Given the description of an element on the screen output the (x, y) to click on. 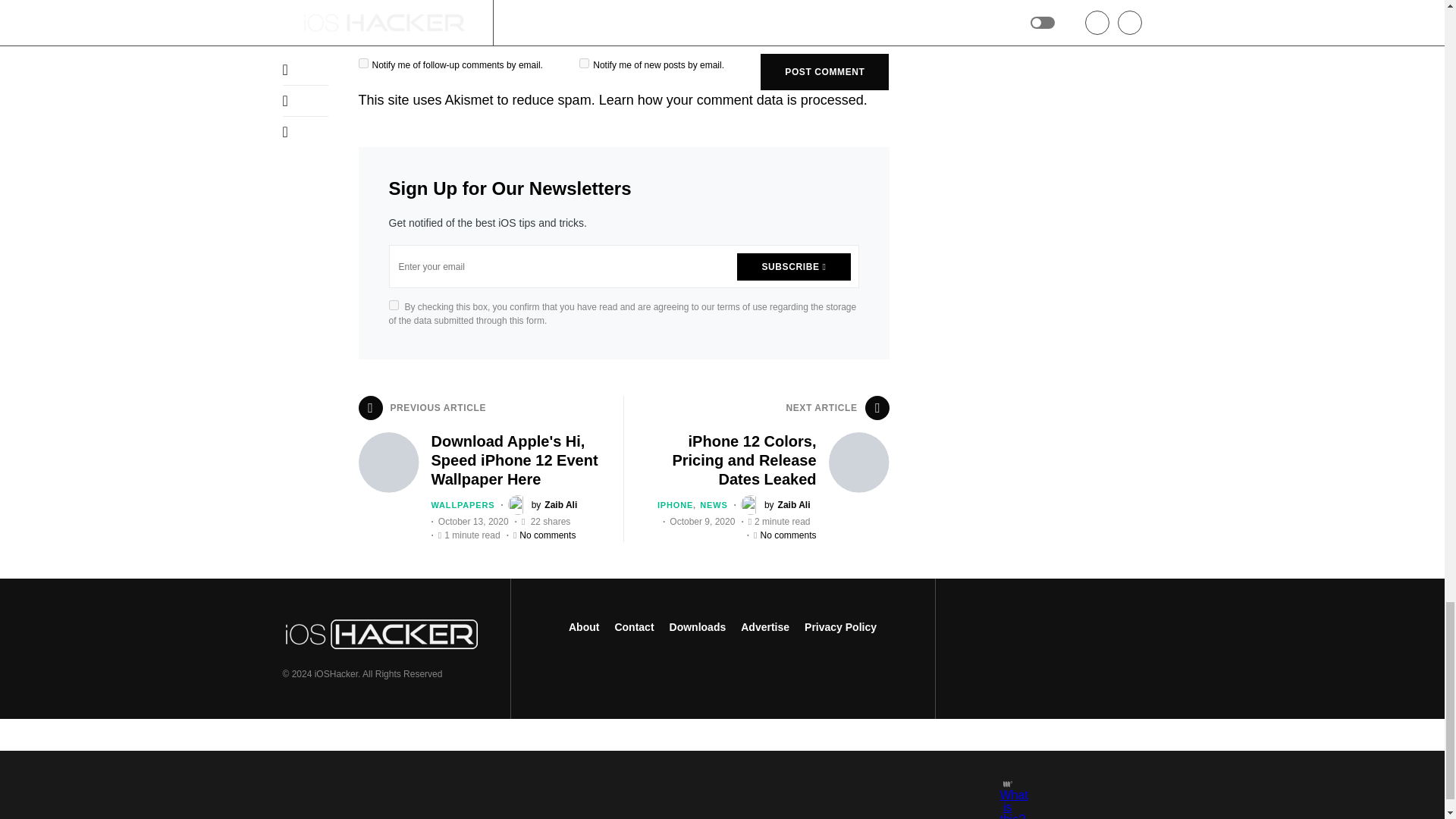
View all posts by Zaib Ali (775, 505)
subscribe (363, 62)
View all posts by Zaib Ali (543, 505)
Post Comment (824, 72)
subscribe (584, 62)
on (392, 305)
